Given the description of an element on the screen output the (x, y) to click on. 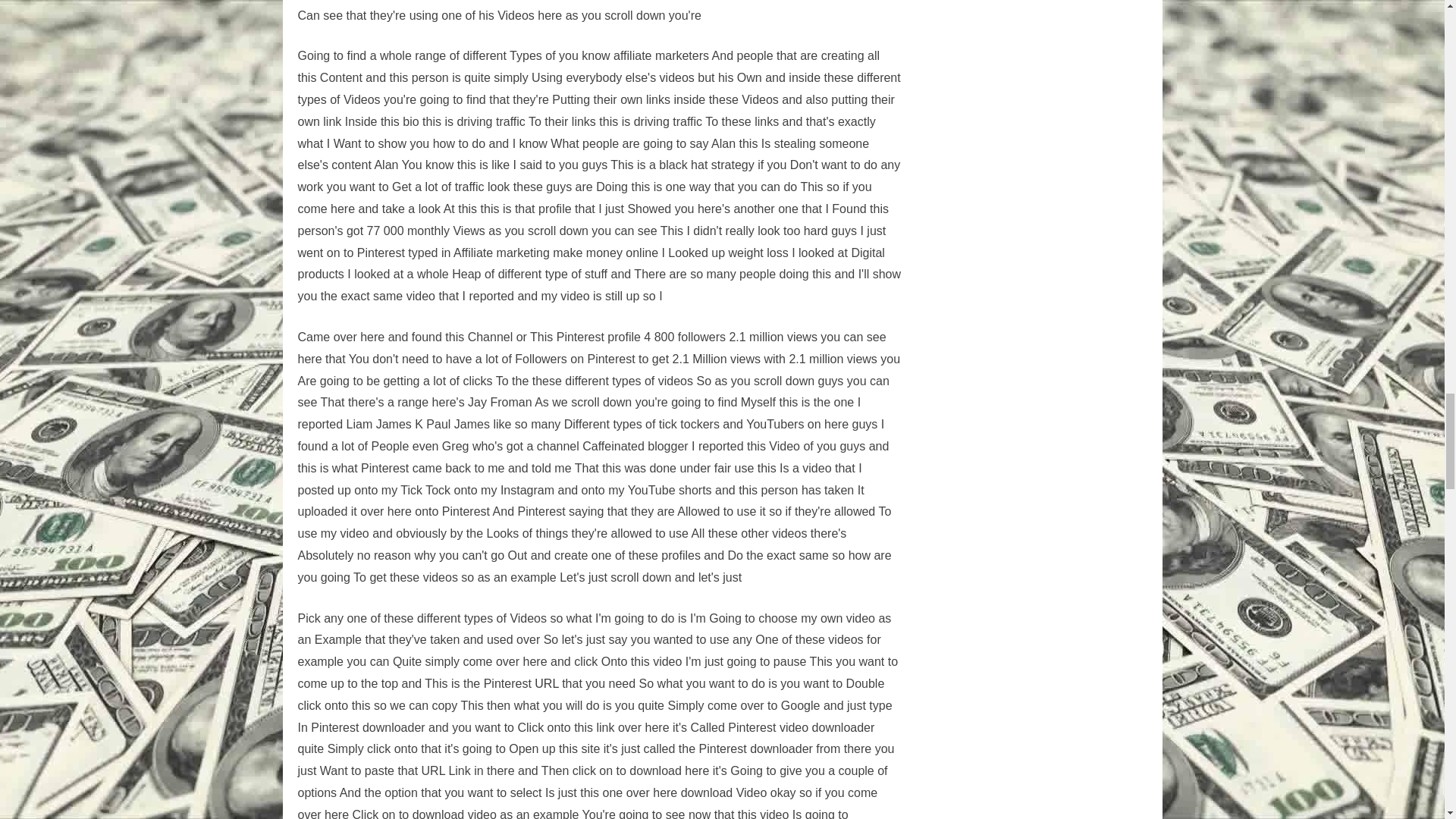
URL (545, 683)
URL (545, 683)
